Given the description of an element on the screen output the (x, y) to click on. 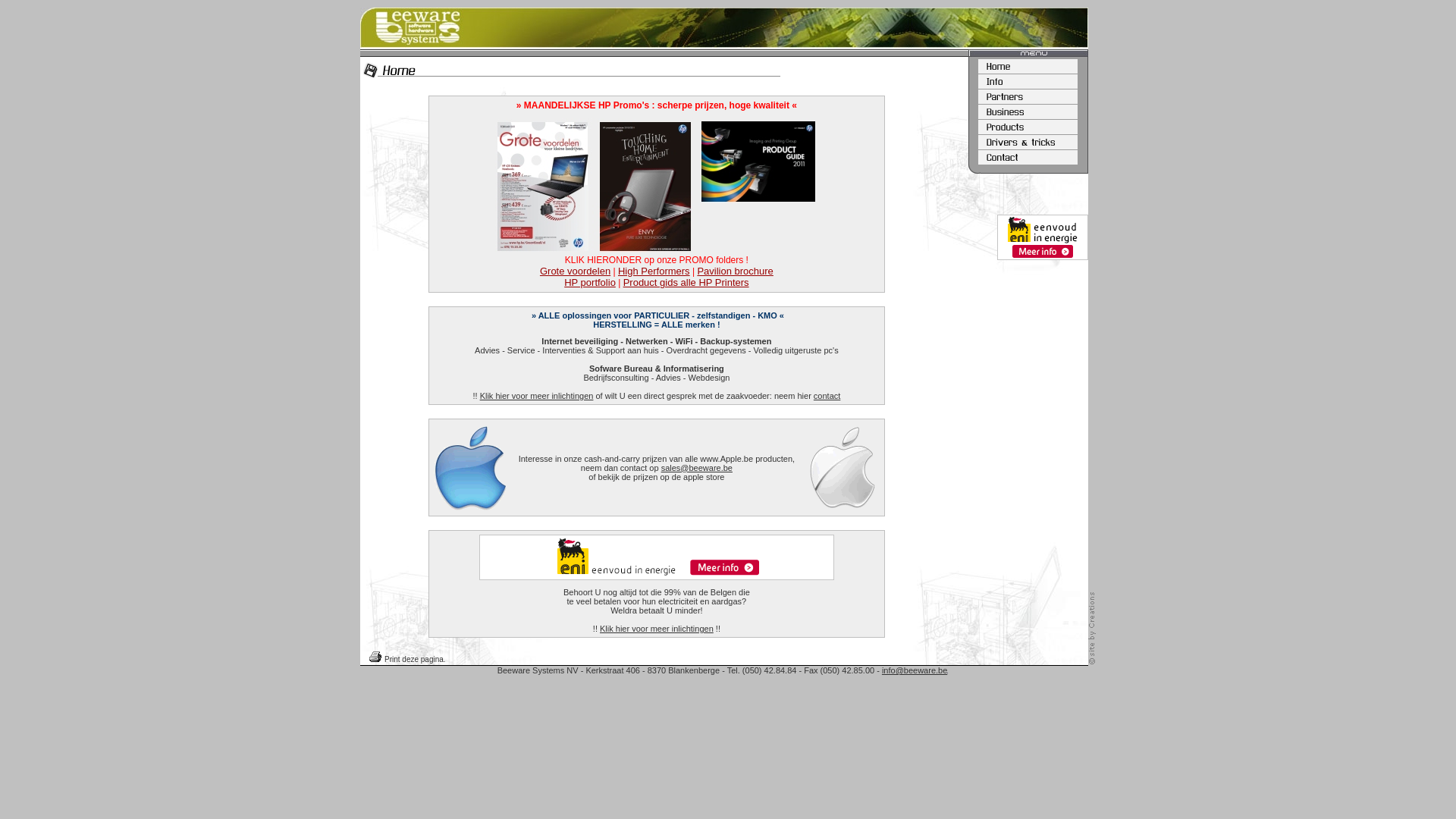
Klik hier voor meer inlichtingen Element type: text (656, 628)
Product gids alle HP Printers Element type: text (686, 282)
HP portfolio Element type: text (589, 282)
Print deze pagina. Element type: text (414, 659)
info@beeware.be Element type: text (914, 669)
sales@beeware.be Element type: text (696, 466)
Pavilion brochure Element type: text (734, 270)
contact Element type: text (826, 395)
www.Apple.be Element type: text (726, 457)
Grote voordelen Element type: text (574, 270)
Klik hier voor meer inlichtingen Element type: text (536, 395)
High Performers Element type: text (654, 270)
